Given the description of an element on the screen output the (x, y) to click on. 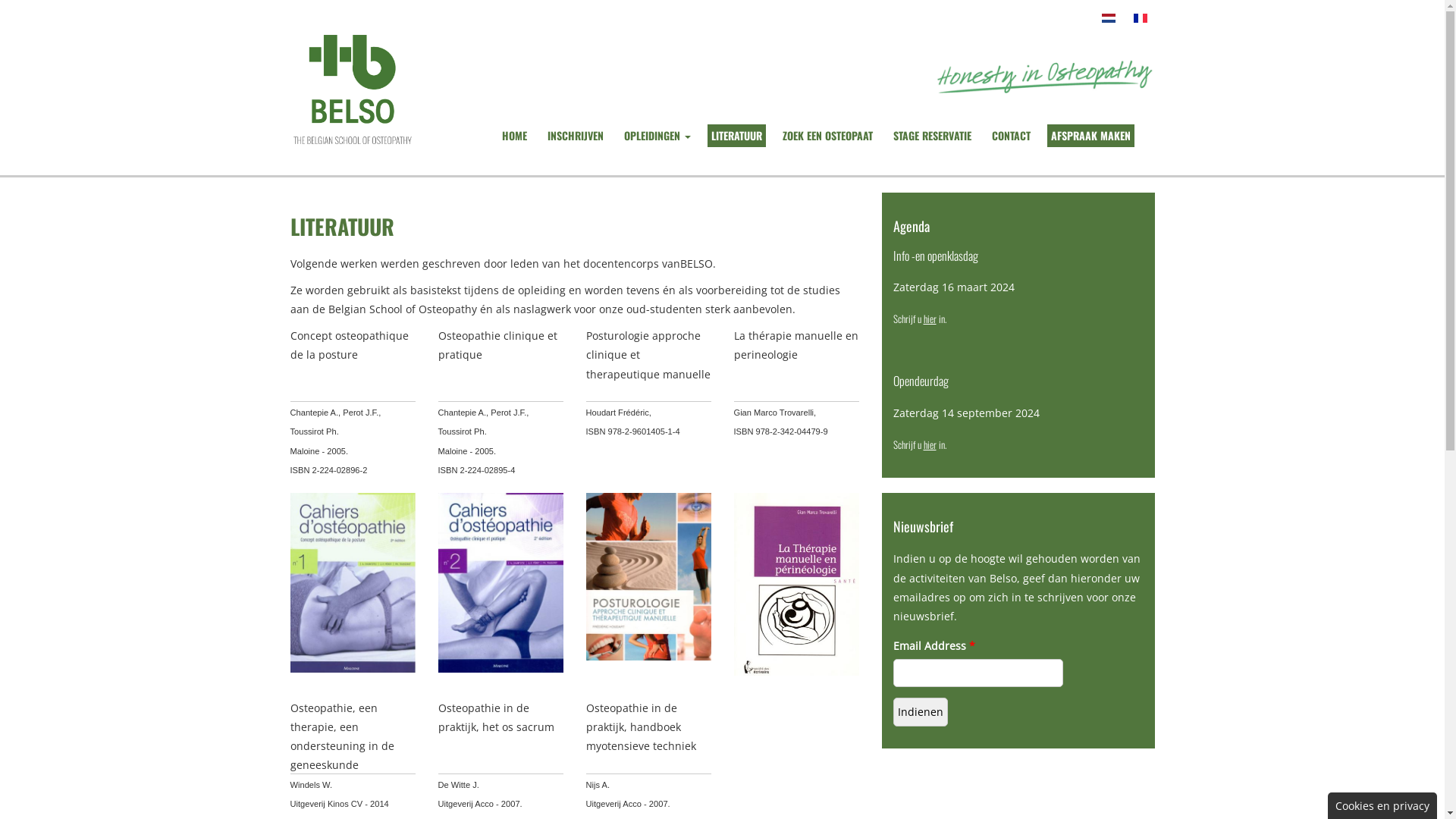
ZOEK EEN OSTEOPAAT Element type: text (826, 135)
hier Element type: text (929, 443)
LITERATUUR Element type: text (735, 135)
Nederlands Element type: hover (1107, 17)
Overslaan en naar de algemene inhoud gaan Element type: text (115, 0)
OPLEIDINGEN Element type: text (657, 135)
AFSPRAAK MAKEN Element type: text (1089, 135)
INSCHRIJVEN Element type: text (574, 135)
Indienen Element type: text (920, 711)
CONTACT Element type: text (1010, 135)
HOME Element type: text (513, 135)
STAGE RESERVATIE Element type: text (931, 135)
hier Element type: text (929, 318)
